Given the description of an element on the screen output the (x, y) to click on. 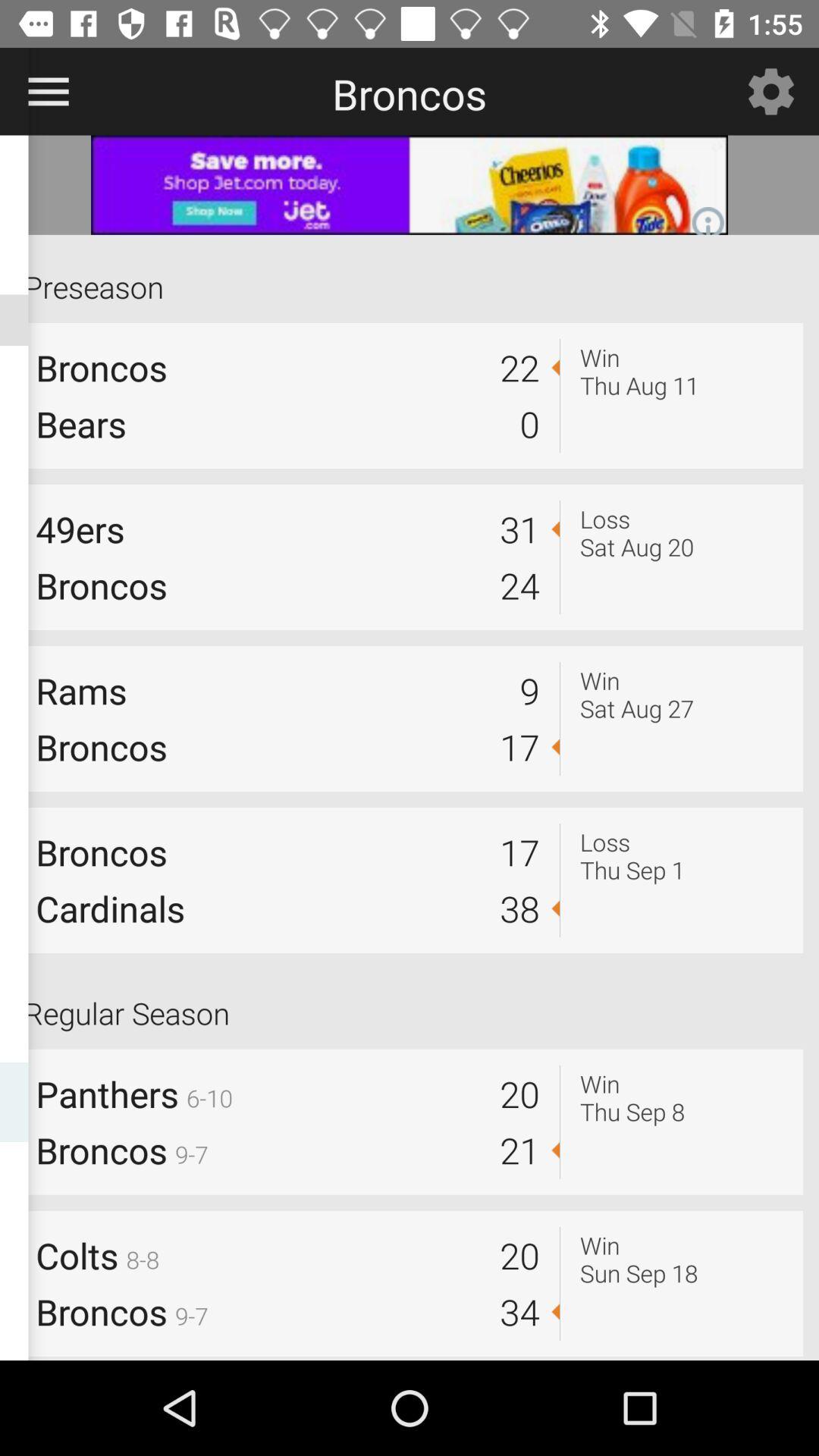
know about the advertisement (409, 184)
